Given the description of an element on the screen output the (x, y) to click on. 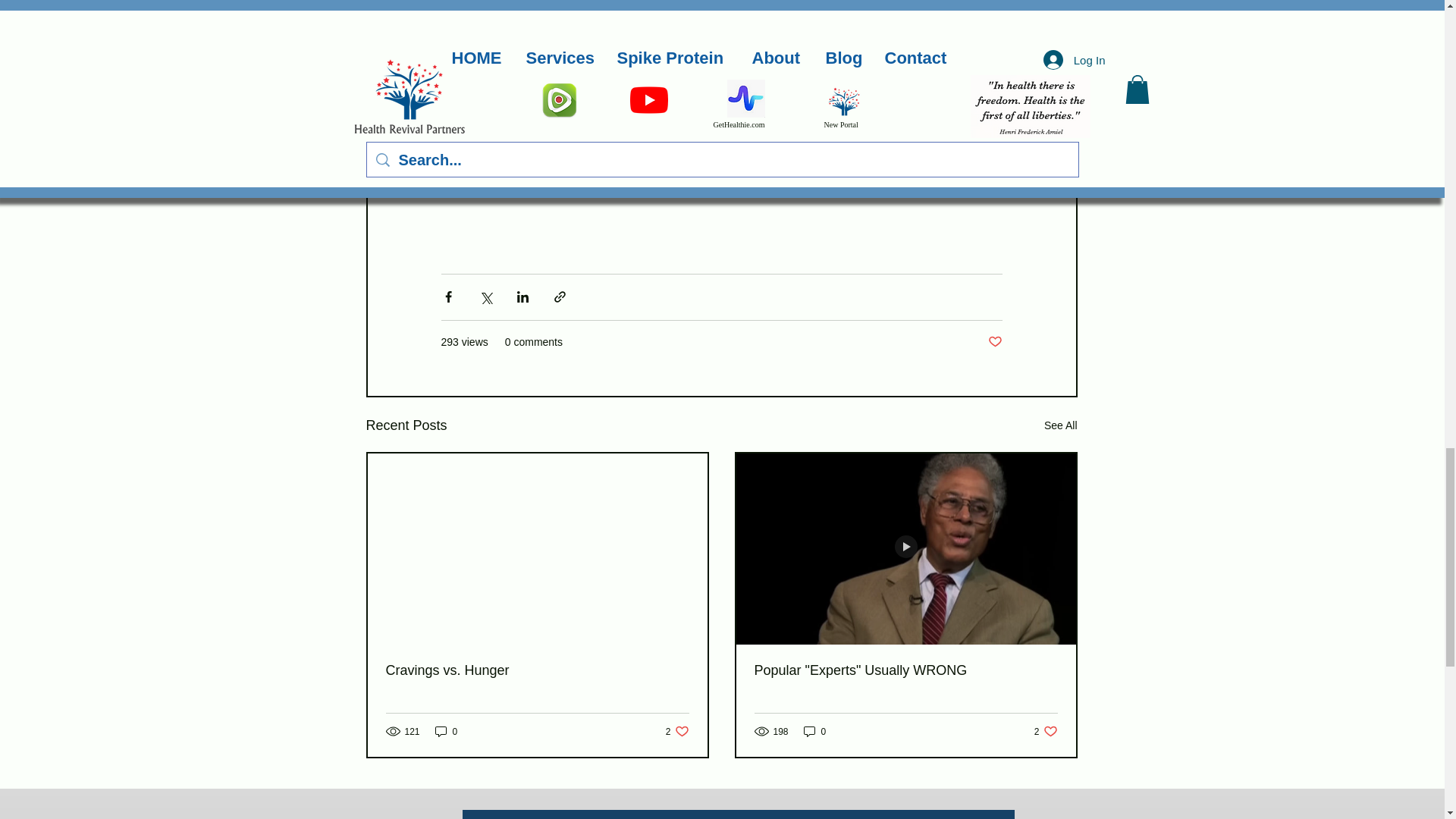
Cravings vs. Hunger (536, 670)
Post not marked as liked (994, 342)
See All (1060, 425)
